Given the description of an element on the screen output the (x, y) to click on. 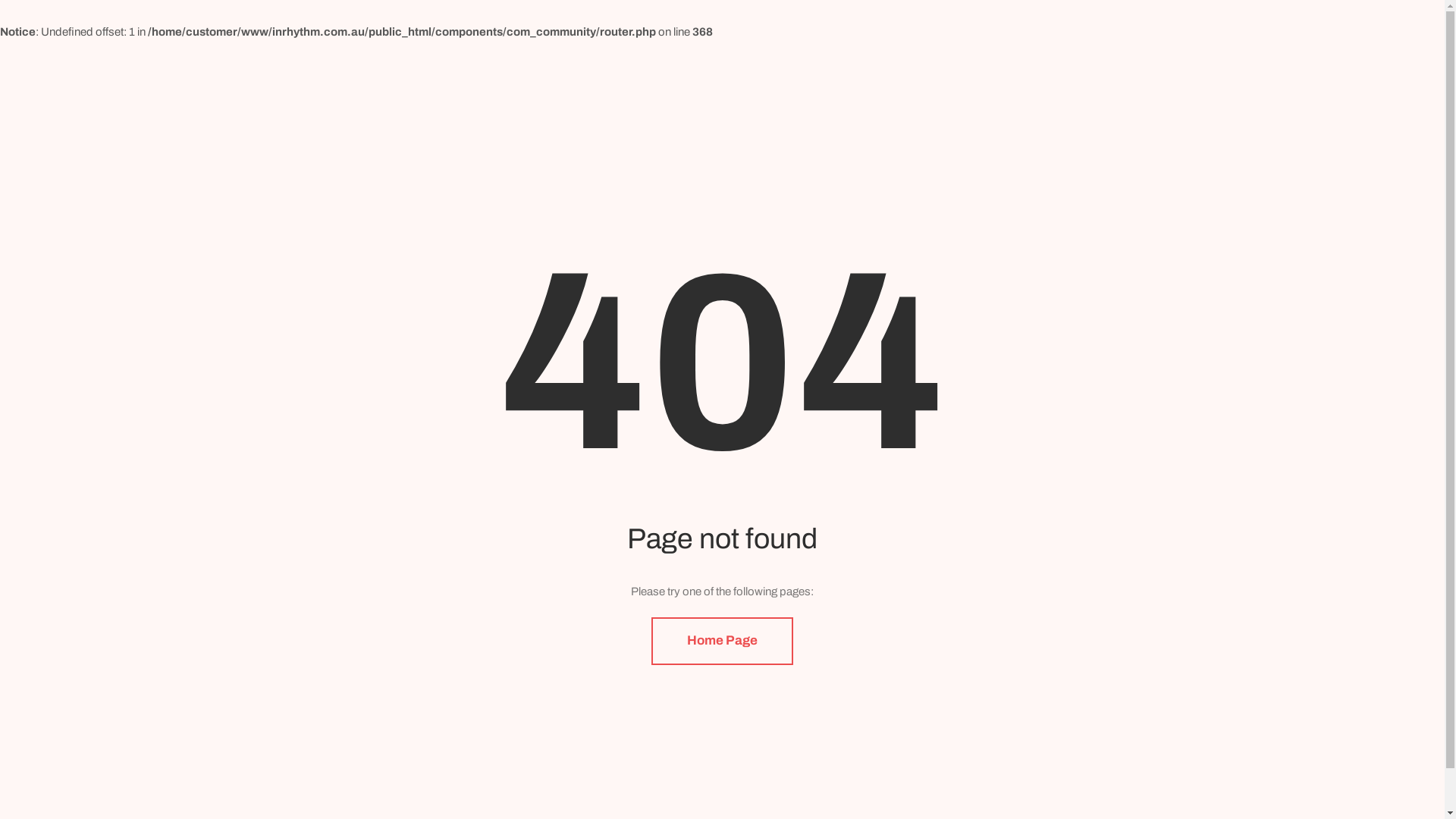
Home Page Element type: text (722, 641)
